Given the description of an element on the screen output the (x, y) to click on. 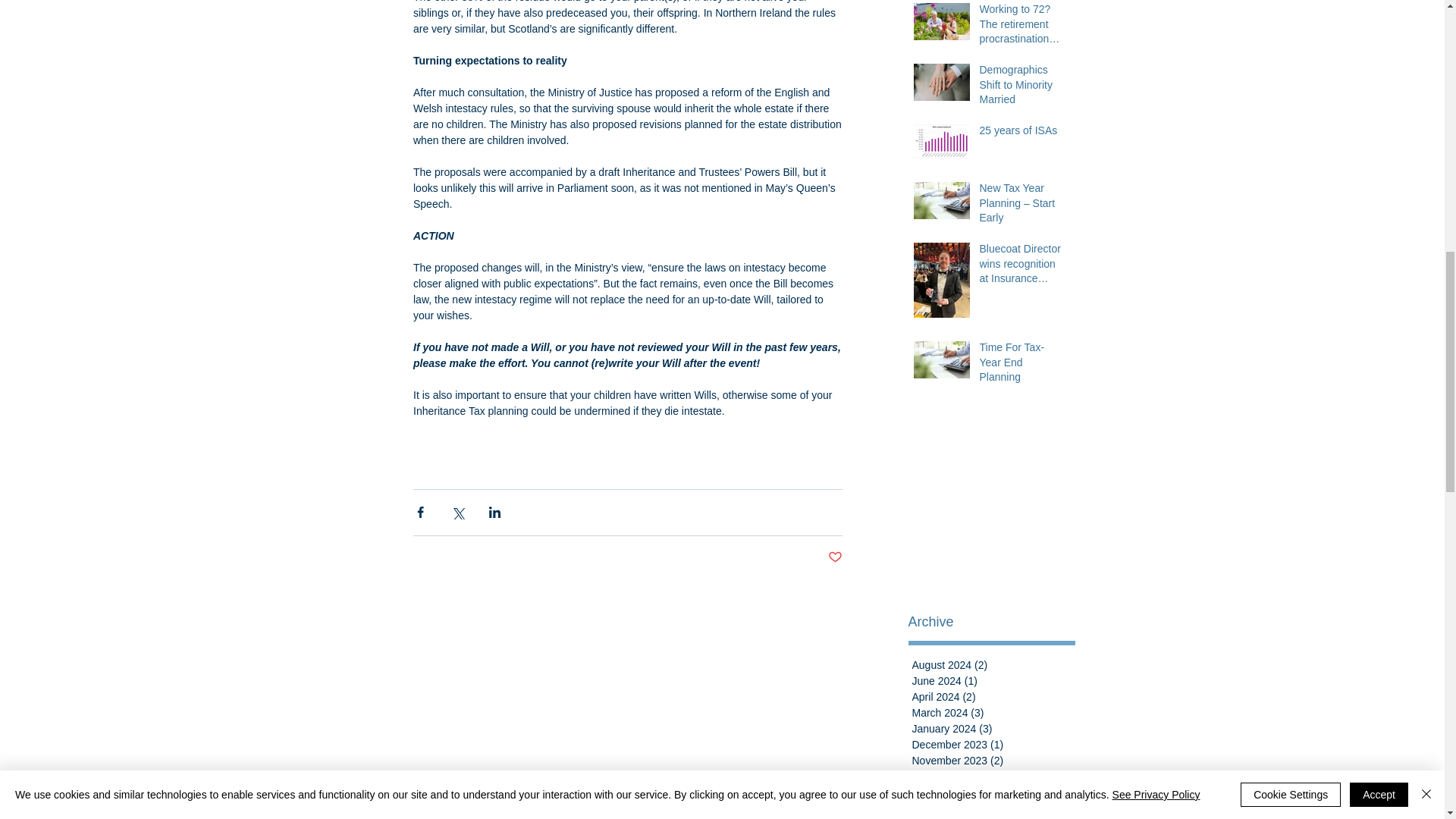
Time For Tax-Year End Planning (1020, 365)
Post not marked as liked (835, 557)
Demographics Shift to Minority Married (1020, 88)
Working to 72? The retirement procrastination problem (1020, 27)
25 years of ISAs (1020, 133)
